Given the description of an element on the screen output the (x, y) to click on. 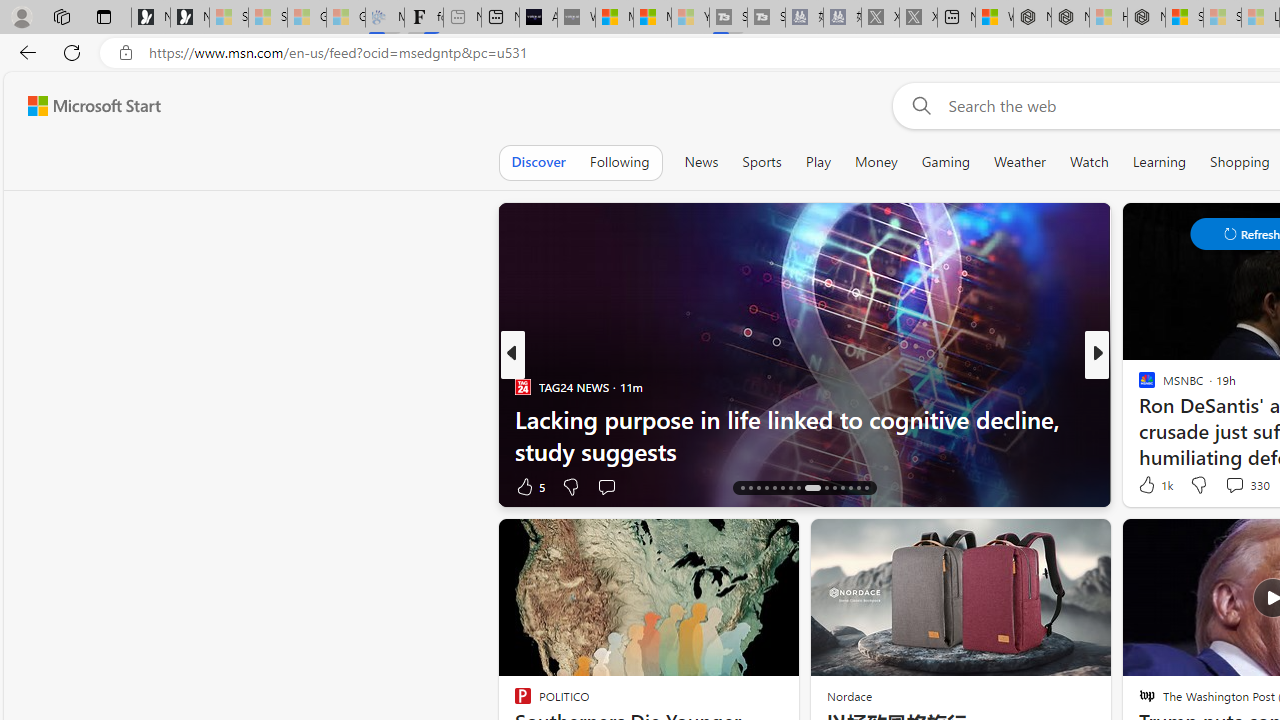
AutomationID: tab-16 (742, 487)
View comments 6 Comment (11, 485)
View comments 55 Comment (1229, 485)
View comments 213 Comment (11, 485)
ABC News (1138, 386)
AutomationID: tab-27 (842, 487)
